Given the description of an element on the screen output the (x, y) to click on. 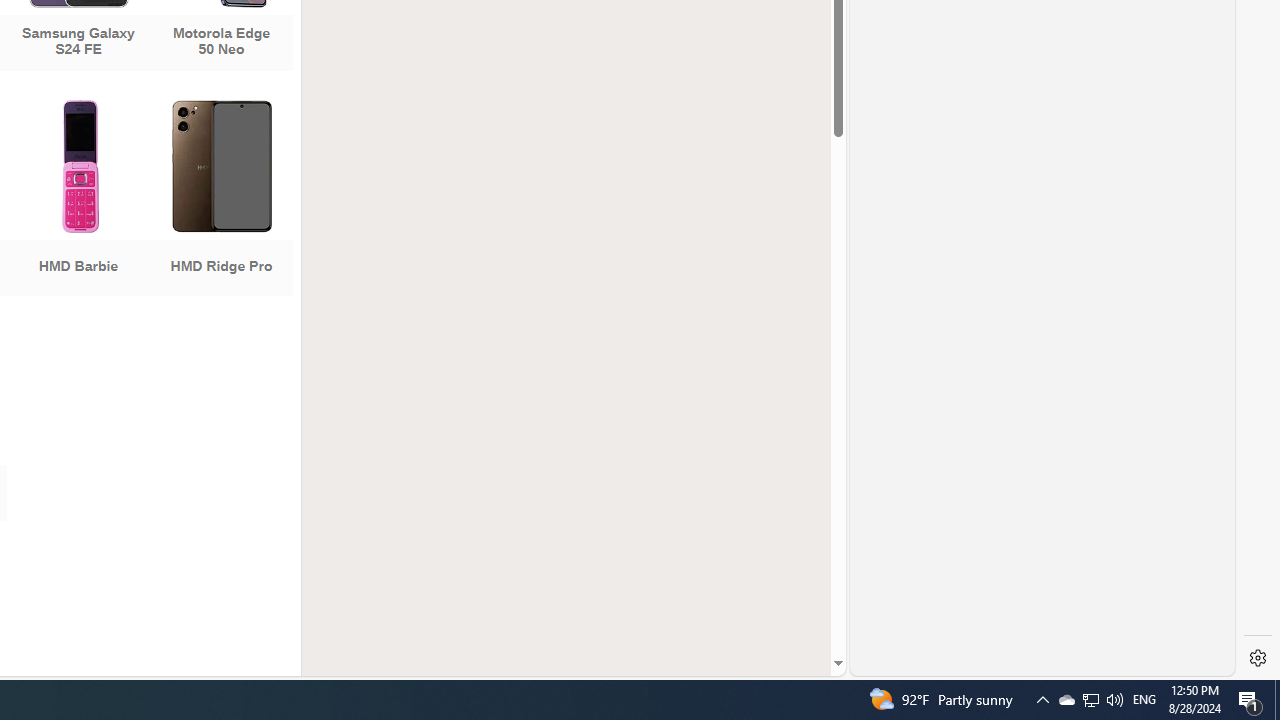
HMD Ridge Pro (221, 200)
Settings (1258, 658)
HMD Barbie (77, 200)
HMD Barbie (77, 200)
HMD Ridge Pro (221, 200)
